Given the description of an element on the screen output the (x, y) to click on. 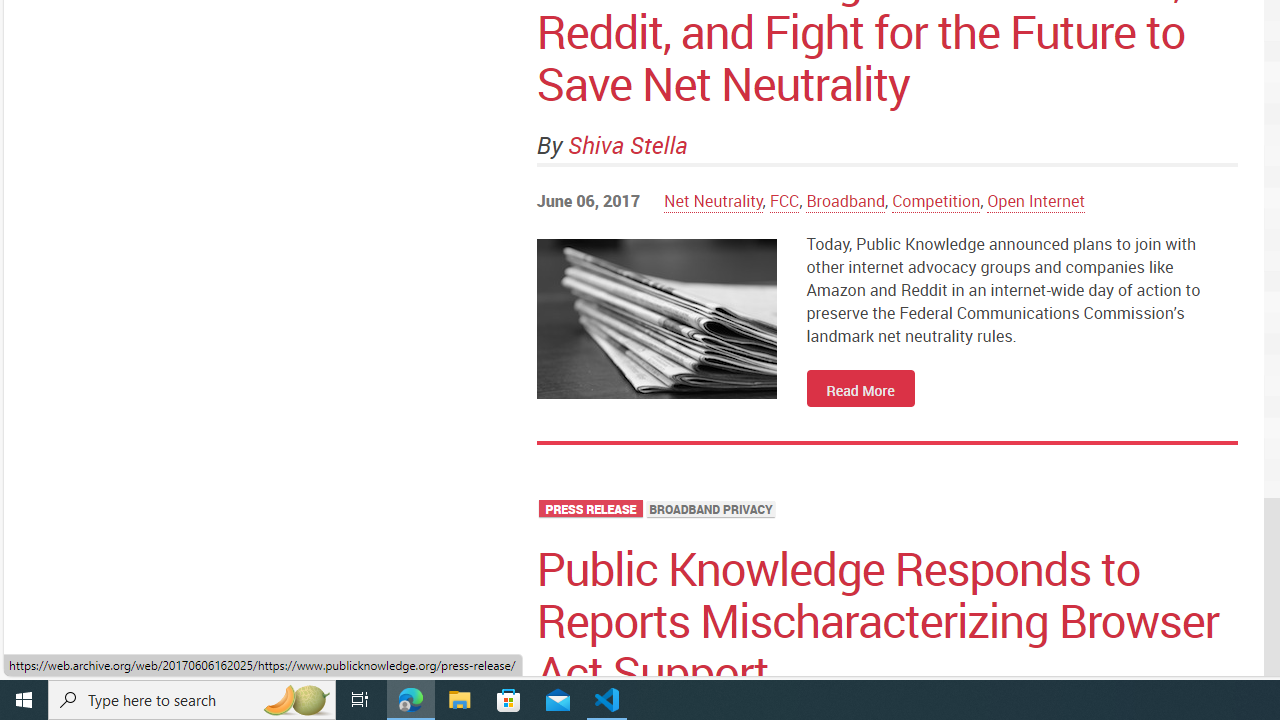
Broadband (845, 200)
PRESS RELEASE (591, 509)
Shiva Stella (628, 144)
Competition (936, 200)
 img (656, 318)
Open Internet (1035, 200)
FCC (784, 200)
Read More (860, 387)
BROADBAND PRIVACY (711, 509)
Net Neutrality (713, 200)
